Given the description of an element on the screen output the (x, y) to click on. 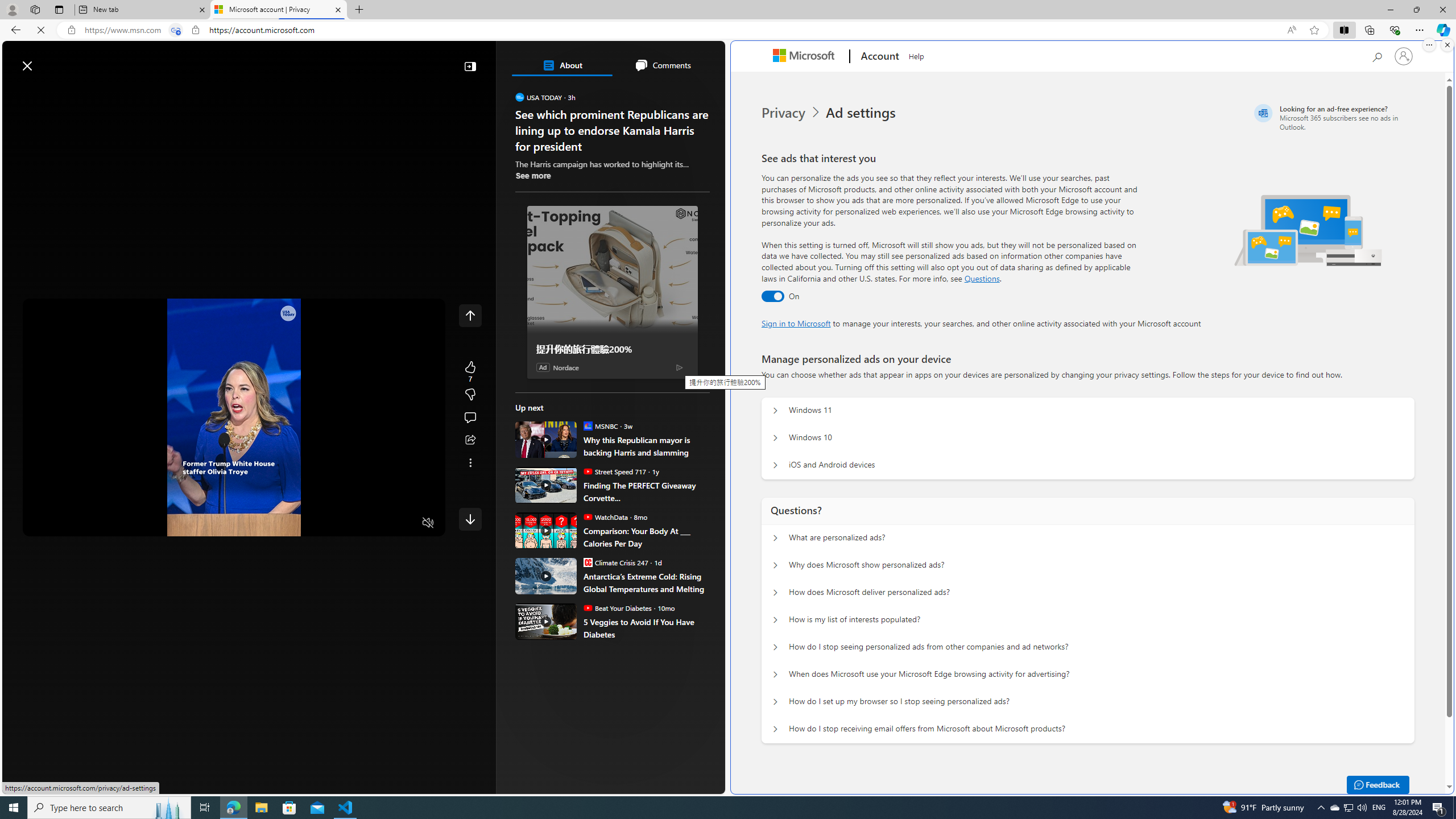
Microsoft (805, 56)
Manage personalized ads on your device Windows 11 (775, 410)
Help (915, 54)
Street Speed 717 Street Speed 717 (614, 470)
